Given the description of an element on the screen output the (x, y) to click on. 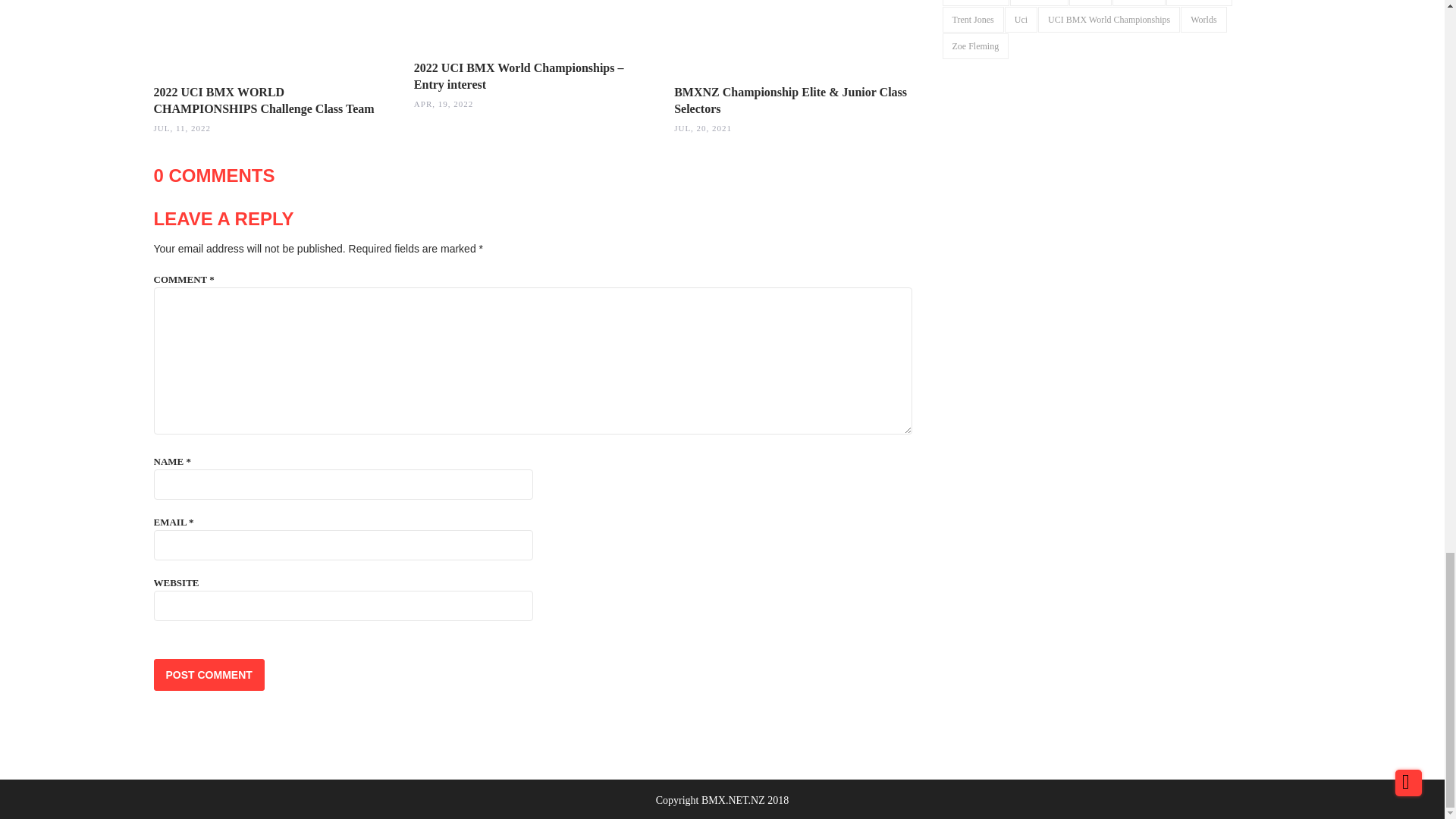
2022 UCI BMX WORLD CHAMPIONSHIPS Challenge Class Team (263, 100)
Post Comment (207, 675)
